Given the description of an element on the screen output the (x, y) to click on. 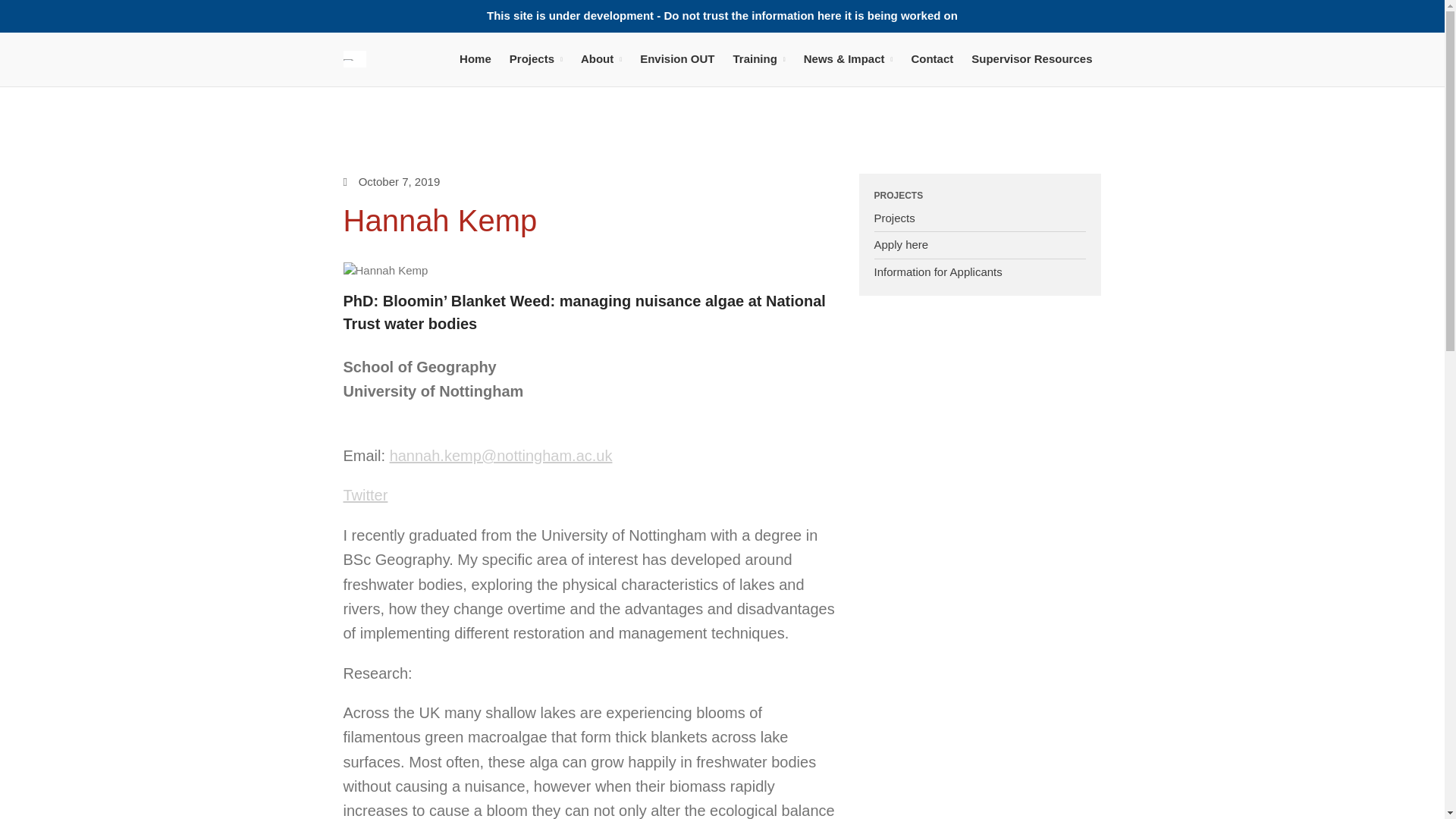
Home (475, 57)
About (600, 58)
Projects (536, 58)
